Given the description of an element on the screen output the (x, y) to click on. 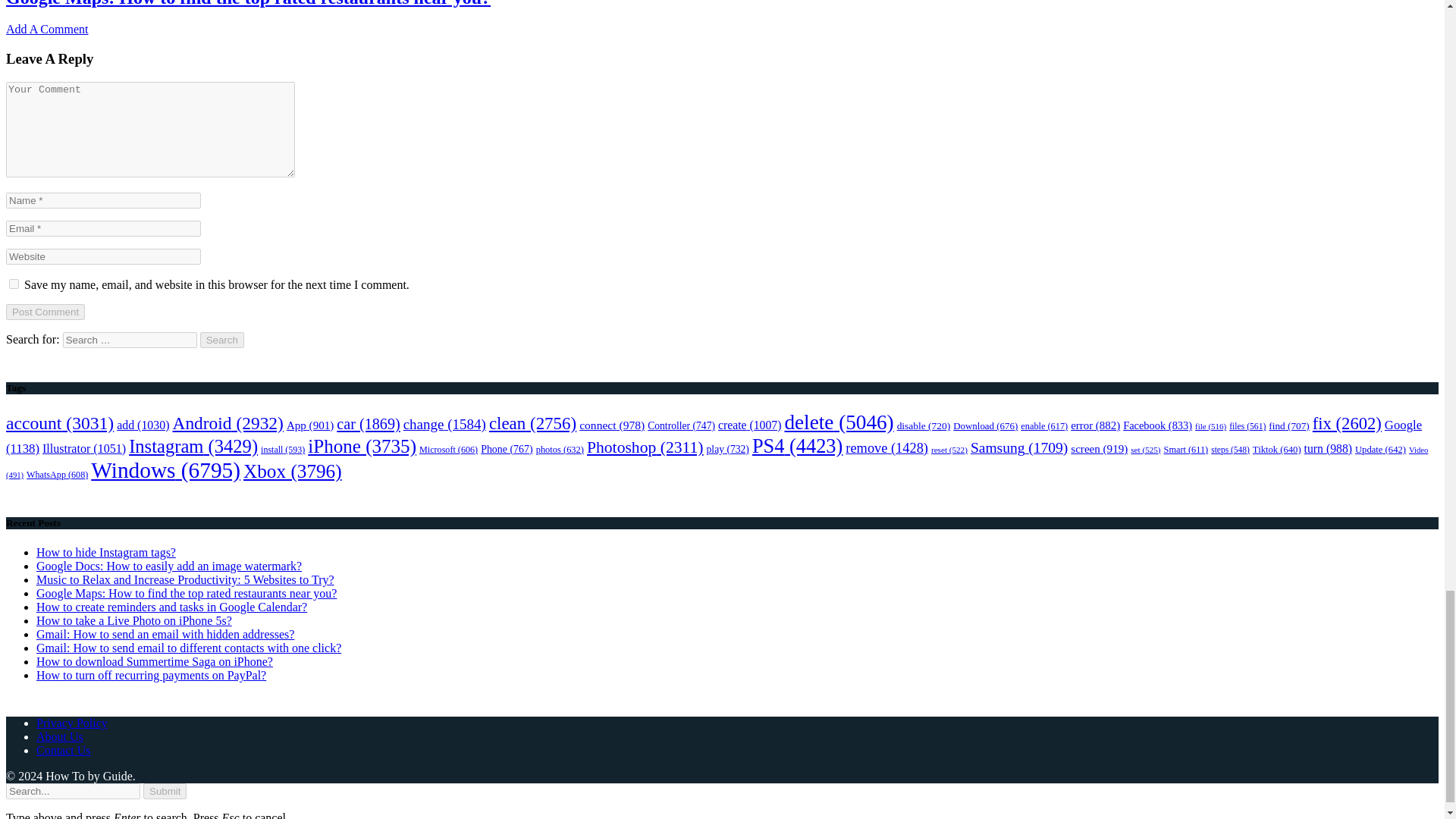
Search (222, 340)
Search (222, 340)
Post Comment (44, 311)
yes (13, 284)
